Given the description of an element on the screen output the (x, y) to click on. 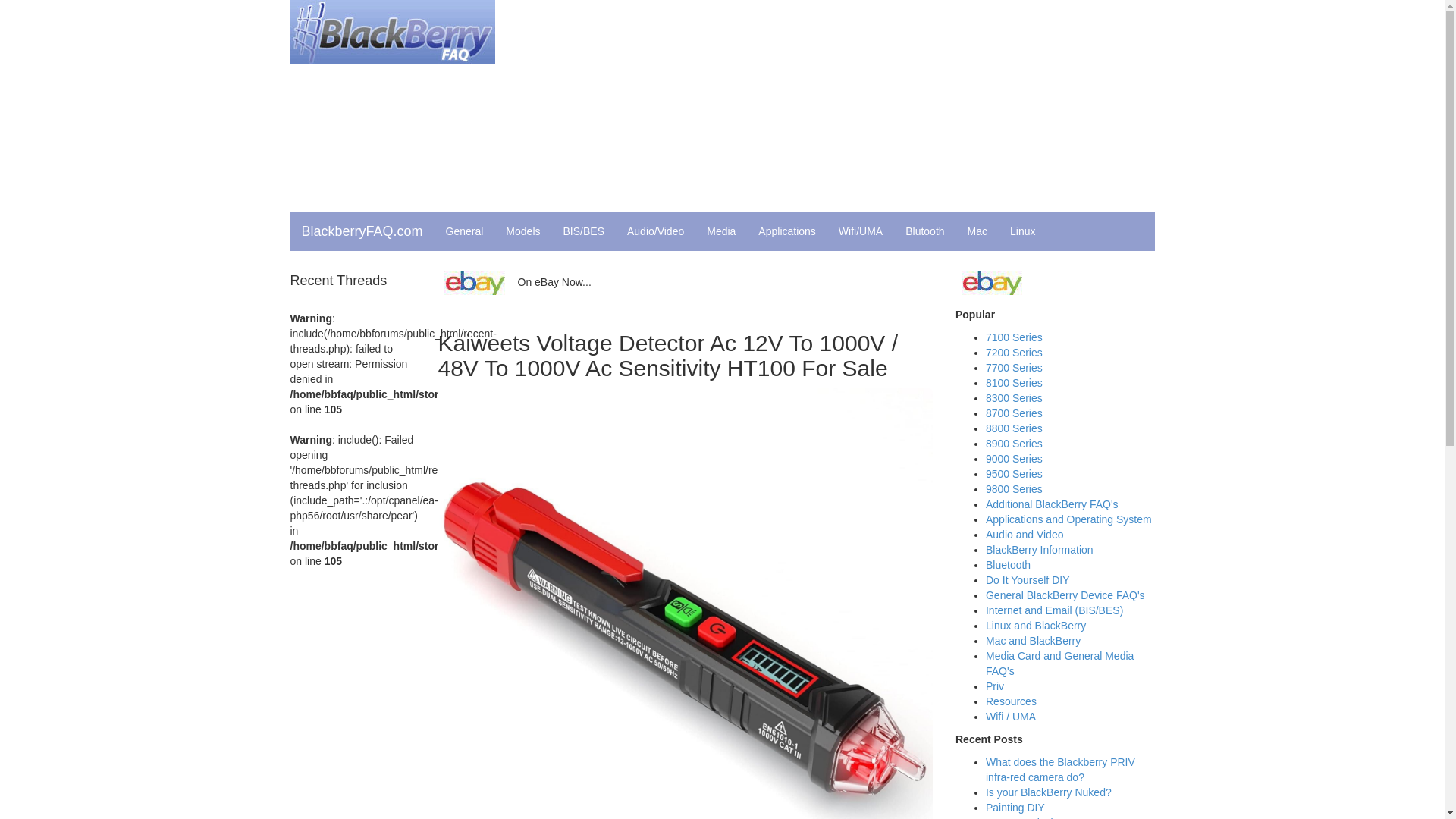
Linux (1022, 231)
7100 Series (1013, 337)
BlackberryFAQ.com (361, 231)
Media Card and General Media FAQ's (1059, 663)
Media (720, 231)
8100 Series (1013, 382)
Do It Yourself DIY (1027, 580)
General (464, 231)
Applications and Operating System (1068, 519)
8700 Series (1013, 413)
Models (523, 231)
BlackBerry Information (1039, 549)
9500 Series (1013, 473)
8800 Series (1013, 428)
Applications (786, 231)
